Given the description of an element on the screen output the (x, y) to click on. 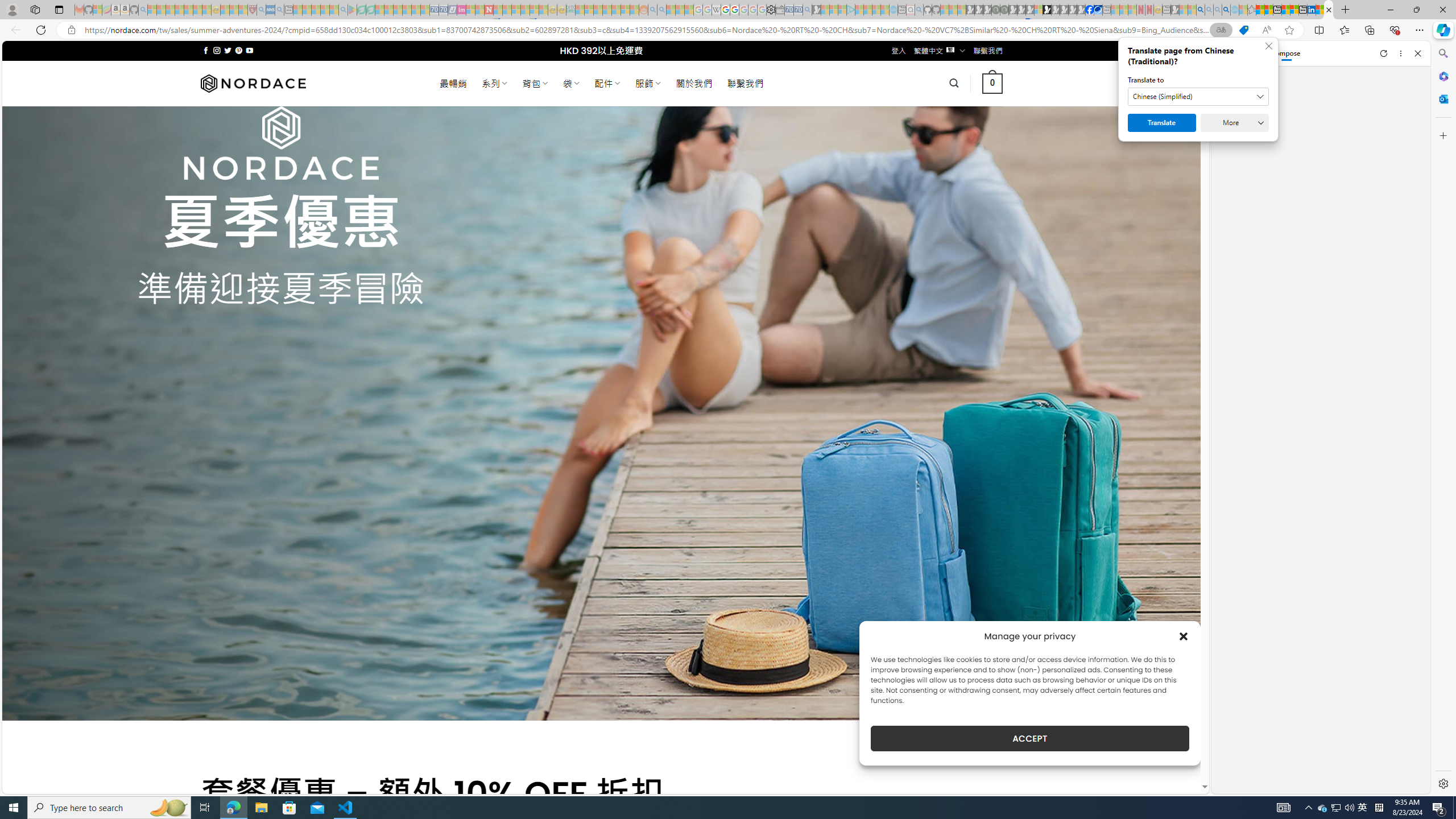
Follow on Facebook (205, 50)
github - Search - Sleeping (919, 9)
  0   (992, 83)
Latest Politics News & Archive | Newsweek.com - Sleeping (488, 9)
